Given the description of an element on the screen output the (x, y) to click on. 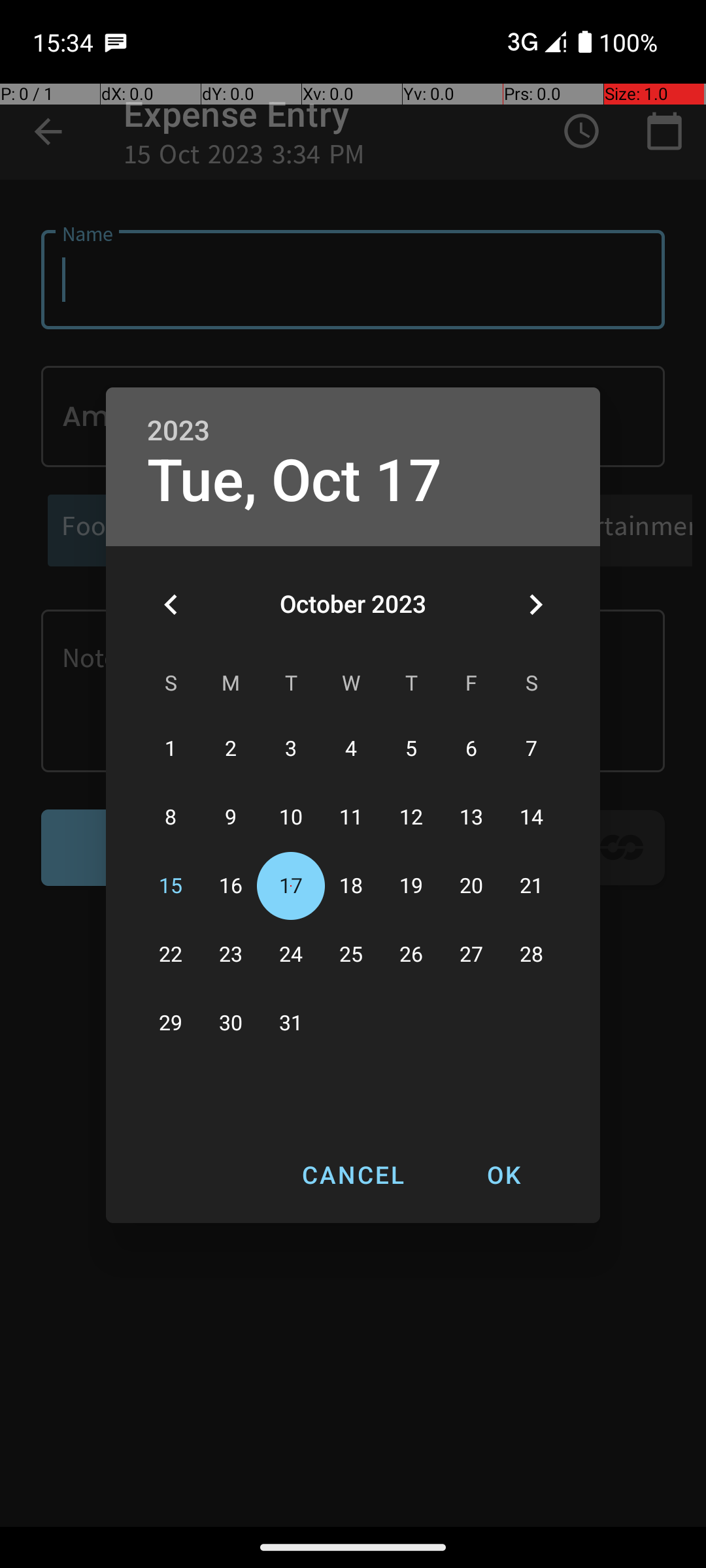
2023 Element type: android.widget.TextView (178, 430)
Tue, Oct 17 Element type: android.widget.TextView (294, 480)
